Given the description of an element on the screen output the (x, y) to click on. 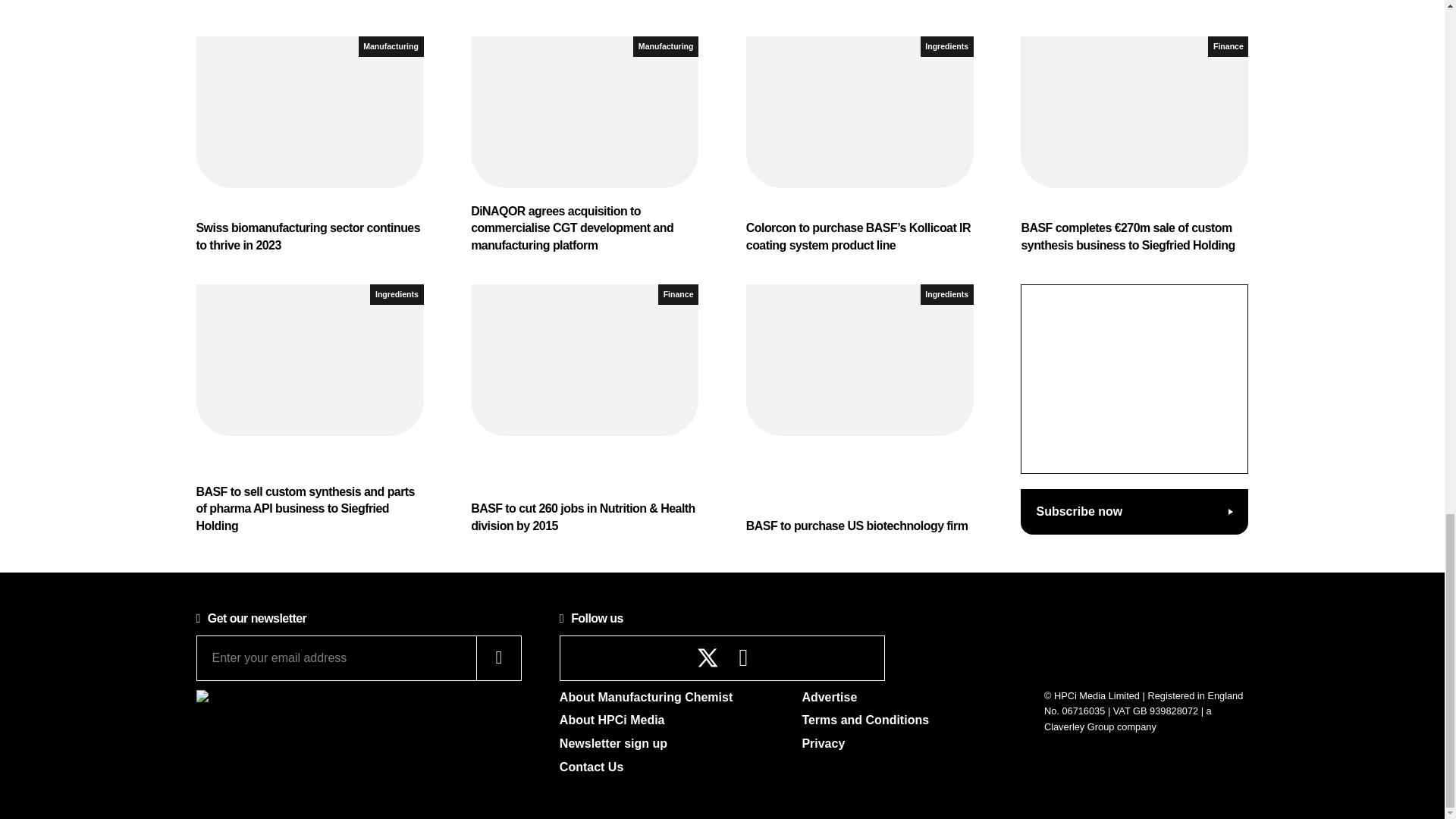
Manufacturing (390, 46)
Swiss biomanufacturing sector continues to thrive in 2023 (309, 144)
Follow Manufacturing Chemist on X (708, 658)
